Given the description of an element on the screen output the (x, y) to click on. 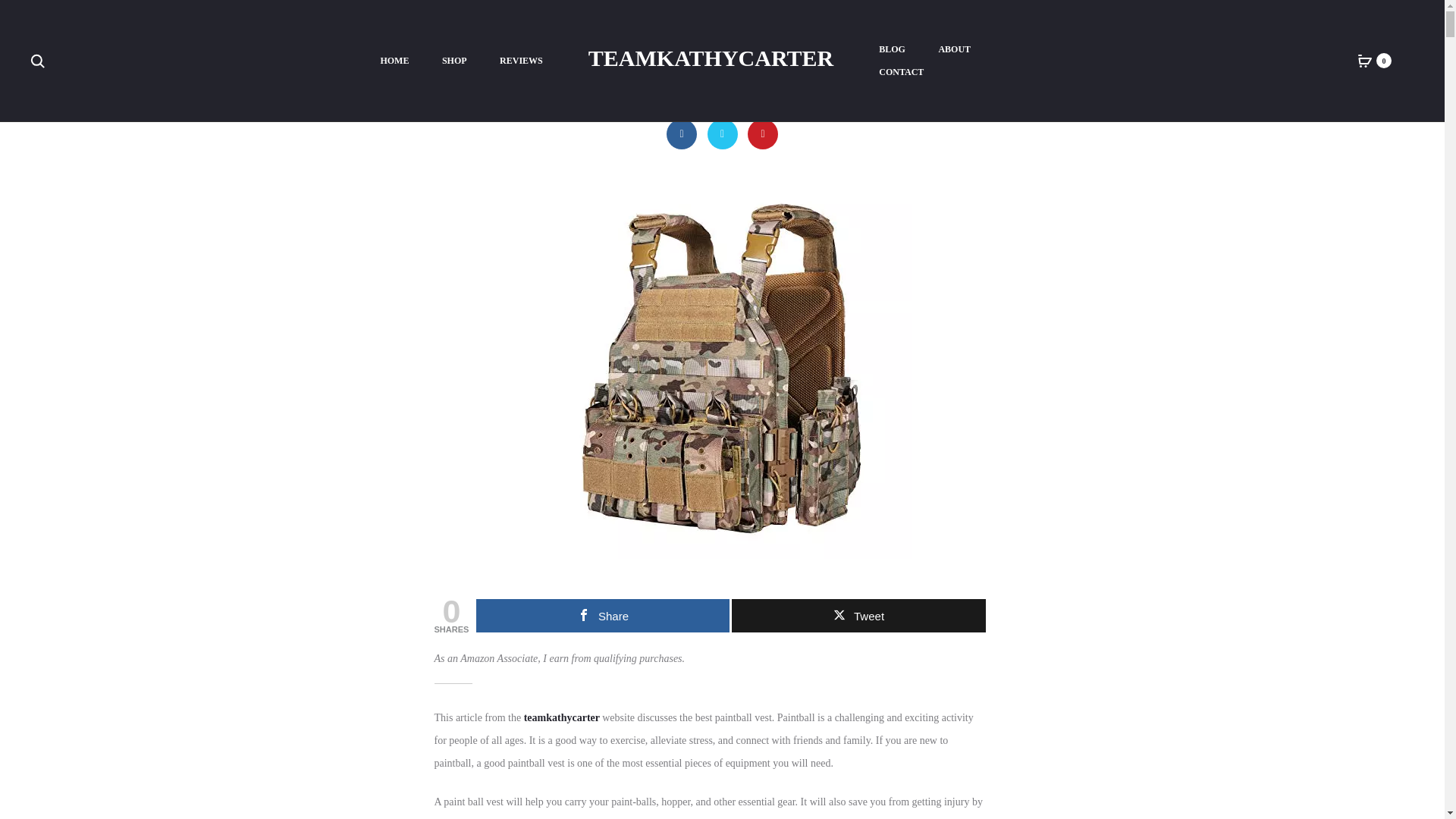
teamkathycarter (563, 717)
ABOUT (954, 49)
Search (37, 60)
SHOP (454, 61)
CONTACT (901, 72)
BLOG (892, 49)
admin (689, 45)
PAINTBALL (734, 45)
REVIEWS (521, 61)
HOME (394, 61)
TEAMKATHYCARTER (710, 57)
0 (1364, 60)
Tweet (858, 615)
Share (602, 615)
